Given the description of an element on the screen output the (x, y) to click on. 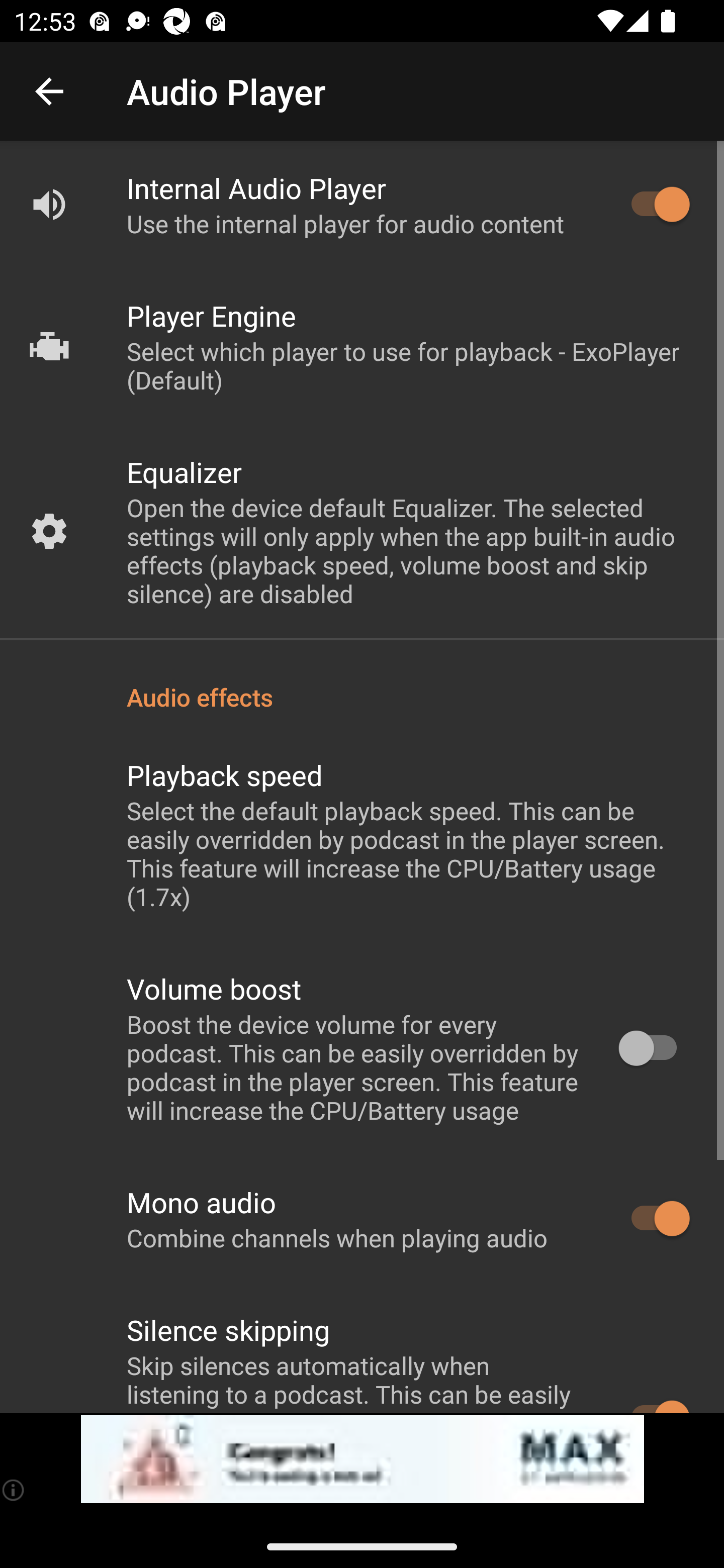
Navigate up (49, 91)
Mono audio Combine channels when playing audio (362, 1218)
app-monetization (362, 1459)
(i) (14, 1489)
